Given the description of an element on the screen output the (x, y) to click on. 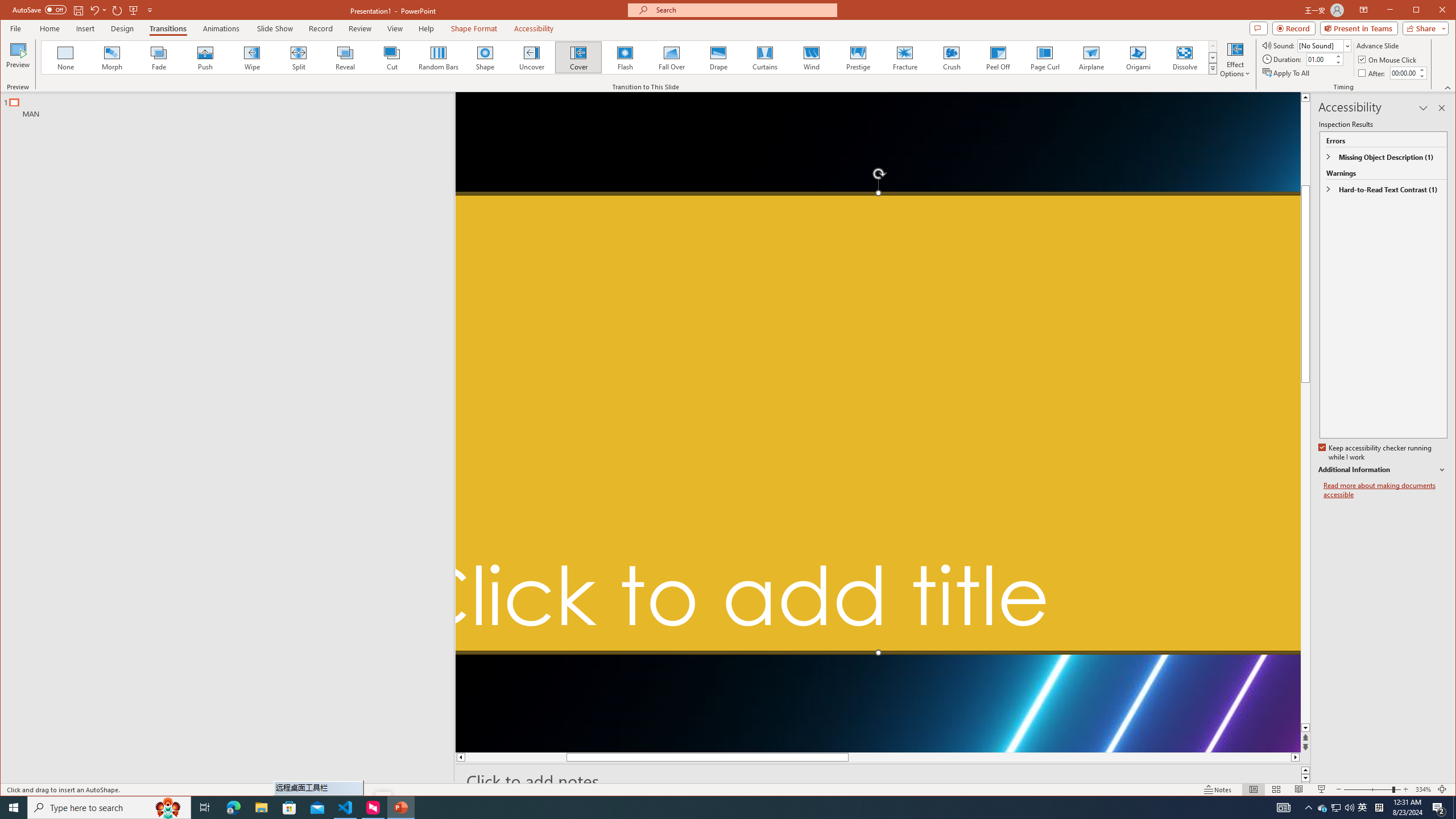
Shape (484, 57)
Crush (951, 57)
None (65, 57)
Transition Effects (1212, 68)
More (1421, 69)
